Given the description of an element on the screen output the (x, y) to click on. 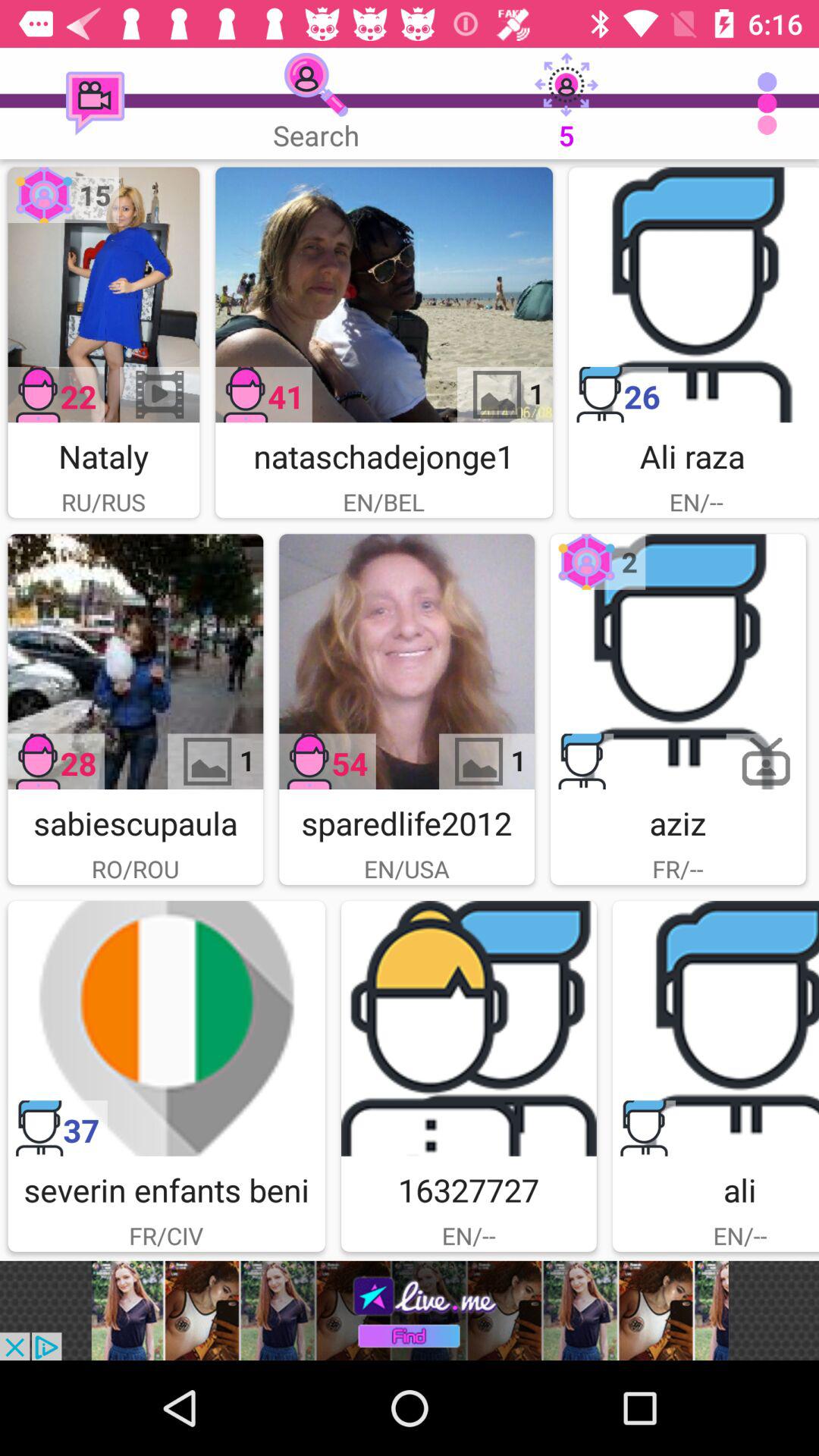
opens an advertisement (409, 1310)
